Given the description of an element on the screen output the (x, y) to click on. 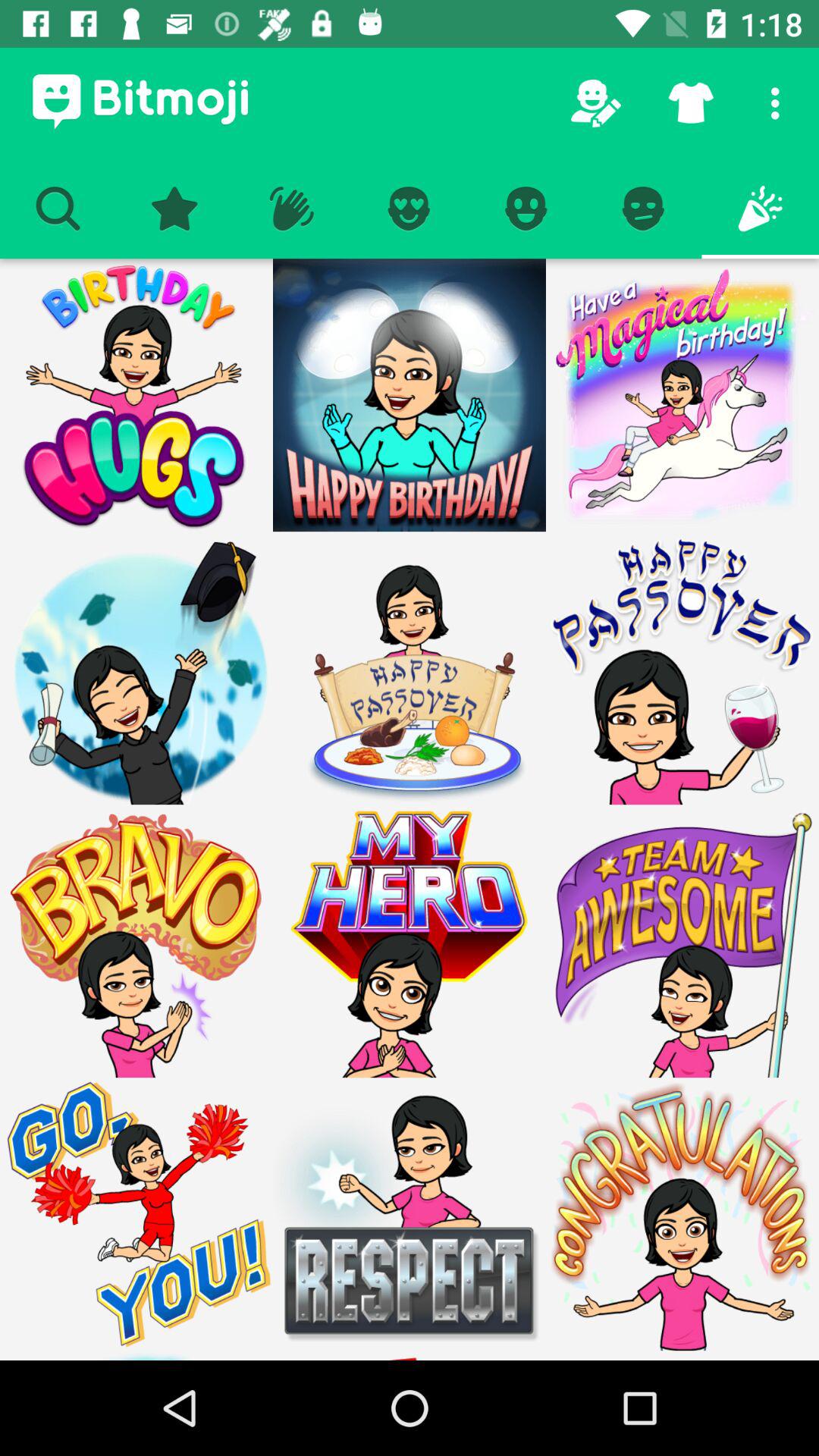
bravo sticker (136, 940)
